Given the description of an element on the screen output the (x, y) to click on. 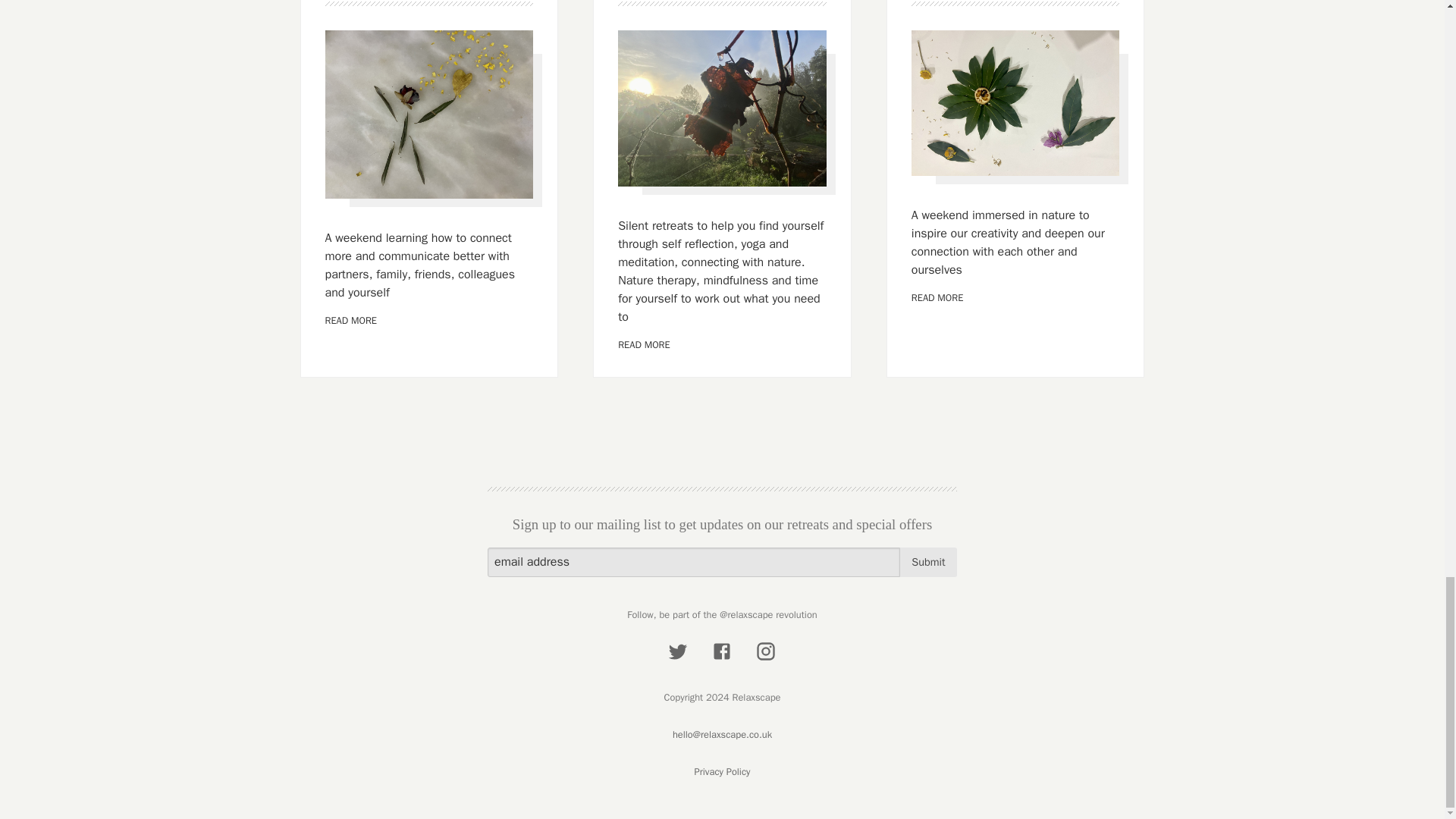
Submit (927, 562)
Submit (927, 562)
Privacy Policy (721, 771)
